Given the description of an element on the screen output the (x, y) to click on. 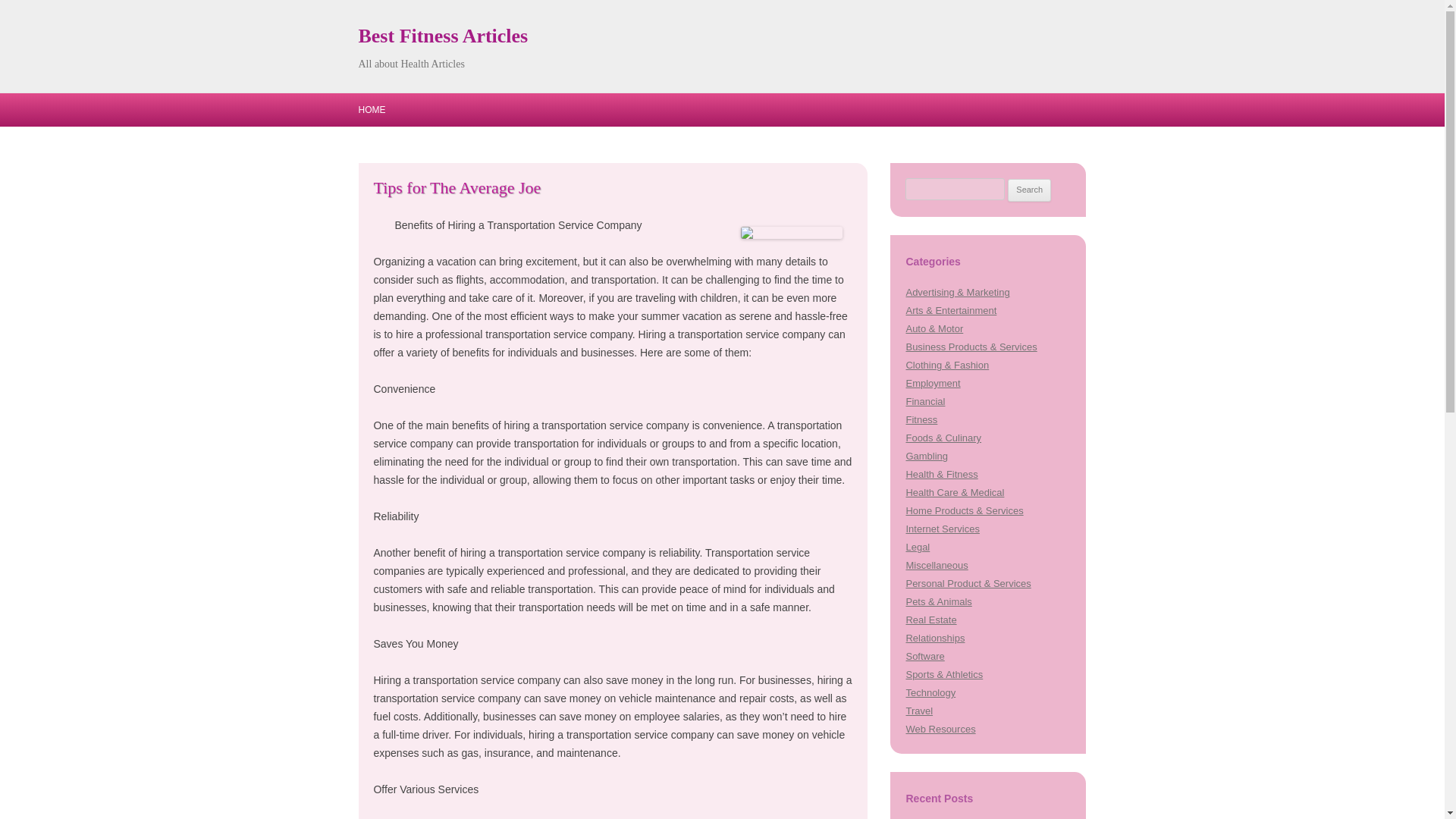
Gambling (926, 455)
Miscellaneous (936, 564)
Technology (930, 692)
Web Resources (940, 728)
Search (1029, 190)
Internet Services (941, 528)
Relationships (934, 637)
Best Fitness Articles (442, 36)
Travel (919, 710)
